Given the description of an element on the screen output the (x, y) to click on. 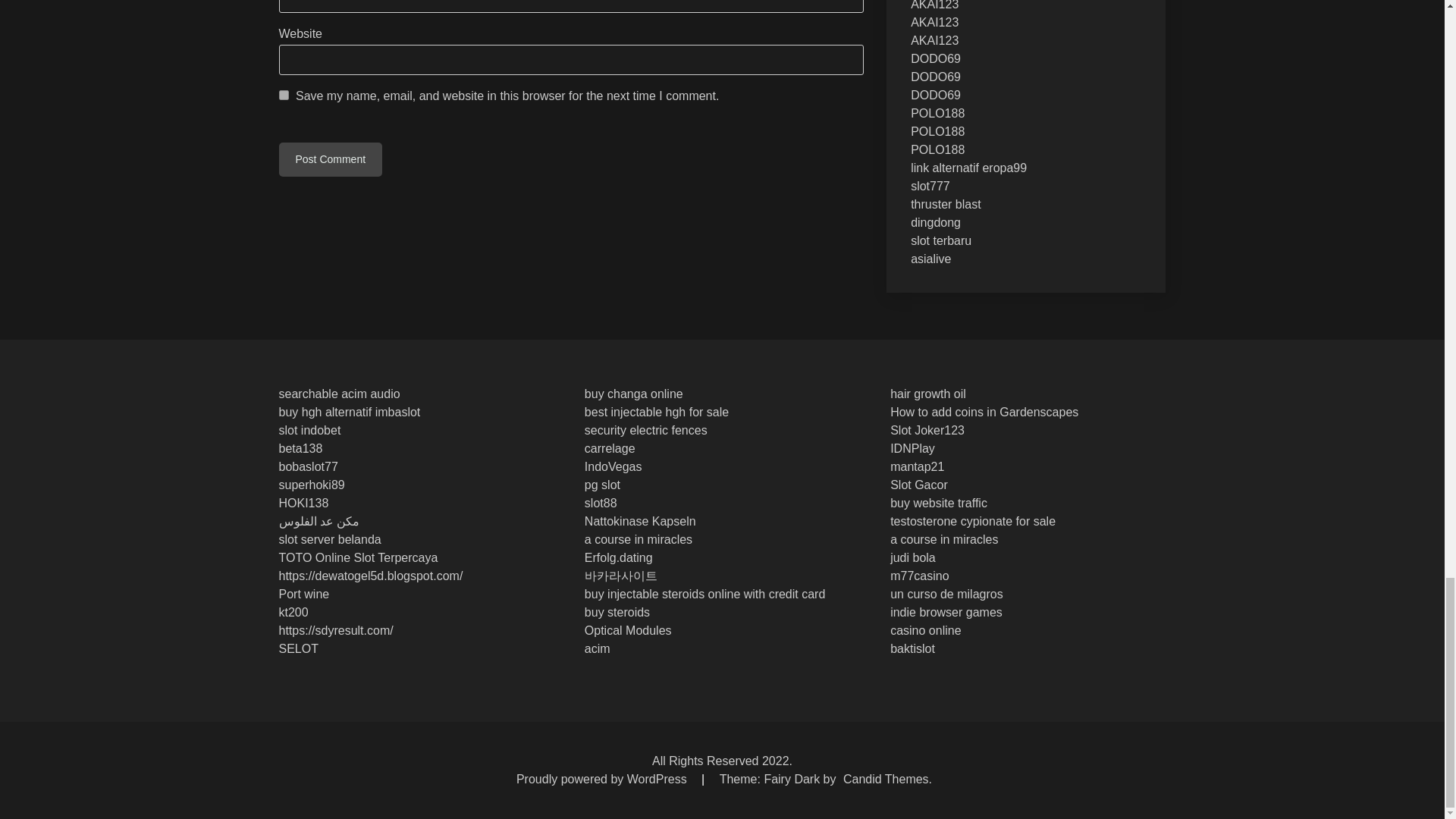
yes (283, 94)
Post Comment (330, 159)
Post Comment (330, 159)
